Given the description of an element on the screen output the (x, y) to click on. 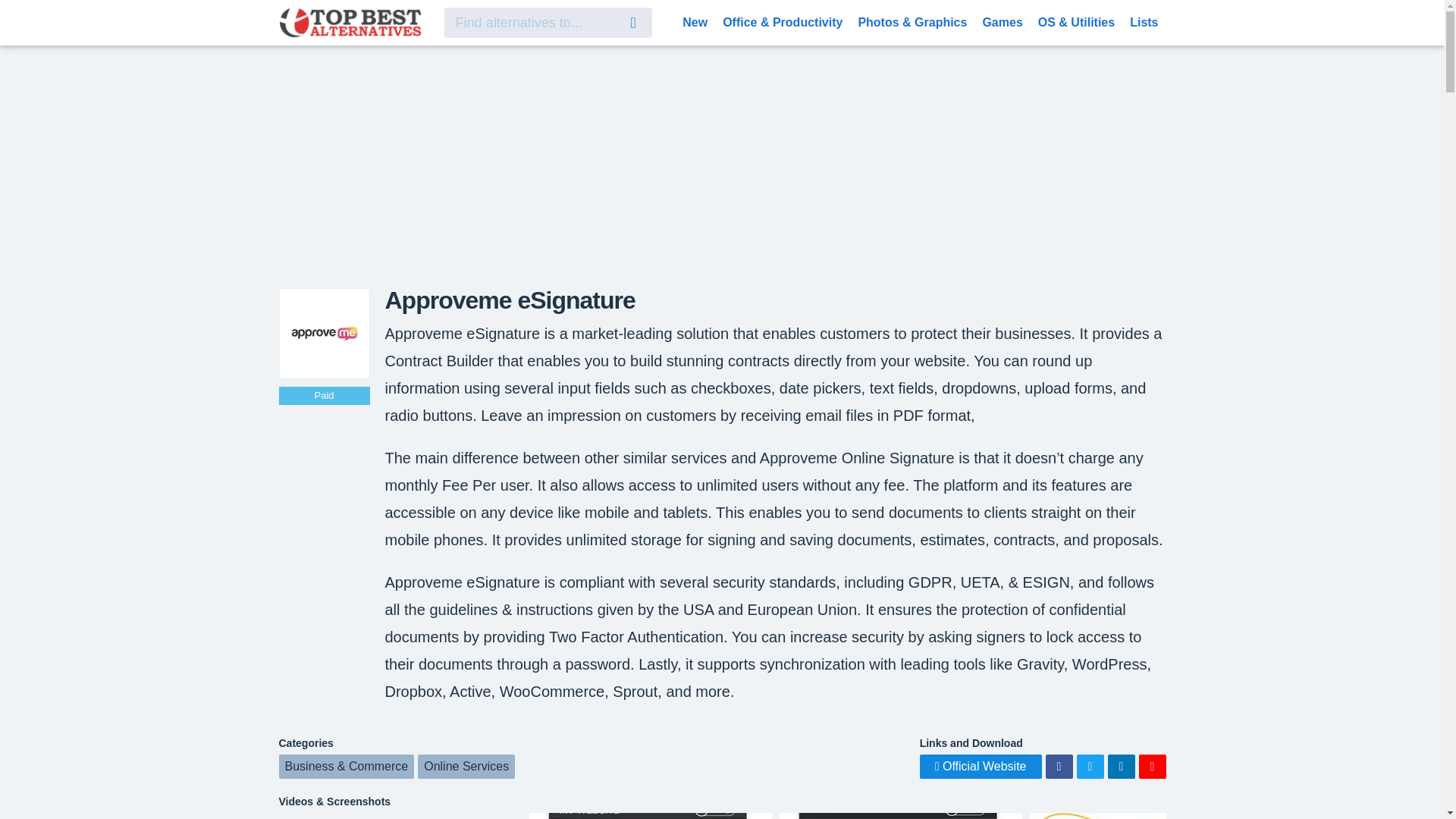
Online Services (466, 766)
New (694, 21)
Games (1001, 21)
Facebook (1058, 766)
Official Website (981, 766)
Twitter (1090, 766)
Linkedin (1120, 766)
Youtube (1152, 766)
Lists (1144, 21)
